Given the description of an element on the screen output the (x, y) to click on. 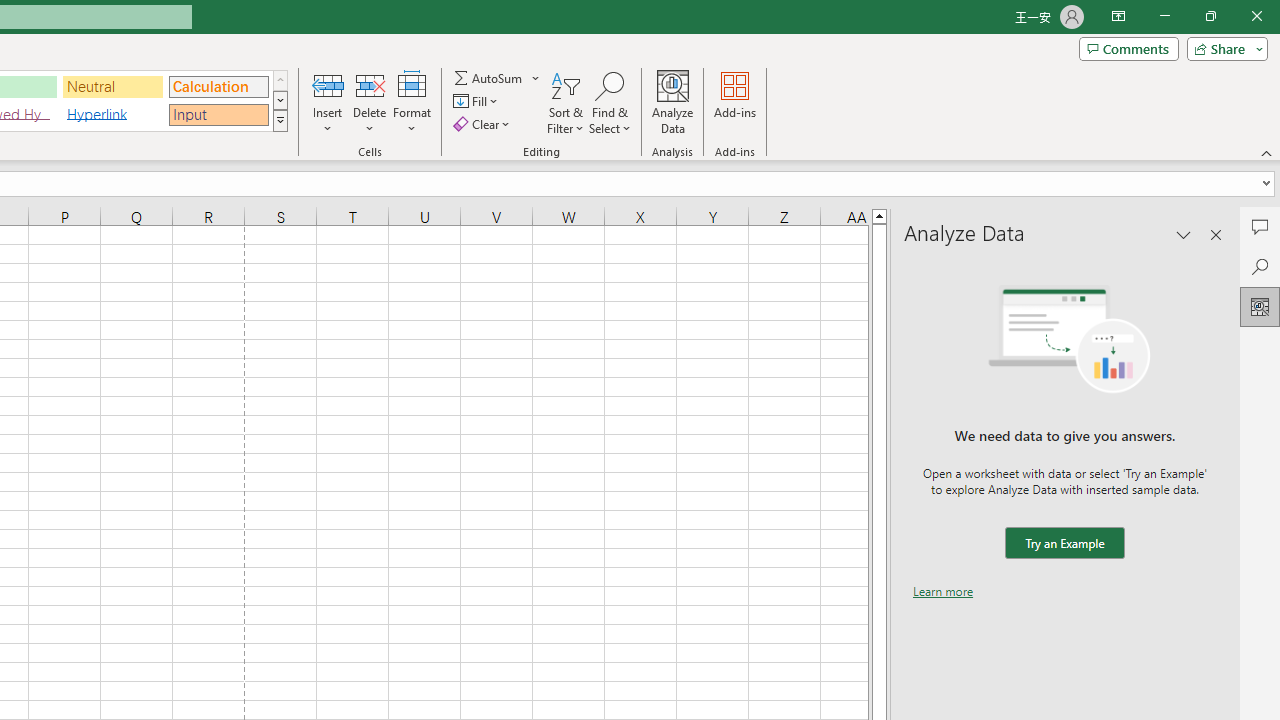
Format (411, 102)
Sum (489, 78)
Calculation (218, 86)
Neutral (113, 86)
Hyperlink (113, 114)
Learn more (943, 591)
AutoSum (497, 78)
Cell Styles (280, 120)
